Given the description of an element on the screen output the (x, y) to click on. 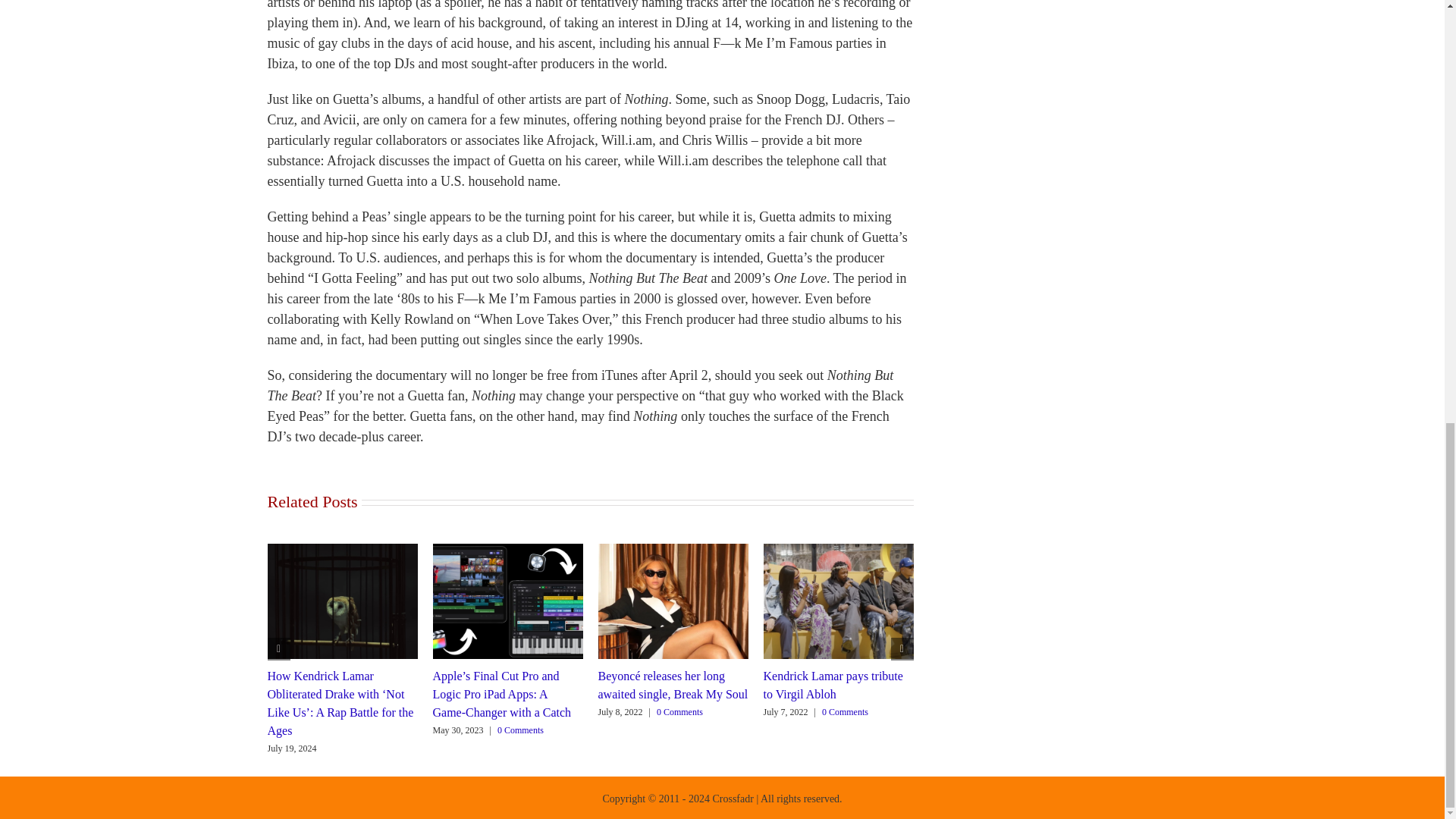
0 Comments (844, 711)
Kendrick Lamar pays tribute to Virgil Abloh (832, 685)
0 Comments (679, 711)
0 Comments (520, 729)
Kendrick Lamar pays tribute to Virgil Abloh (832, 685)
